Given the description of an element on the screen output the (x, y) to click on. 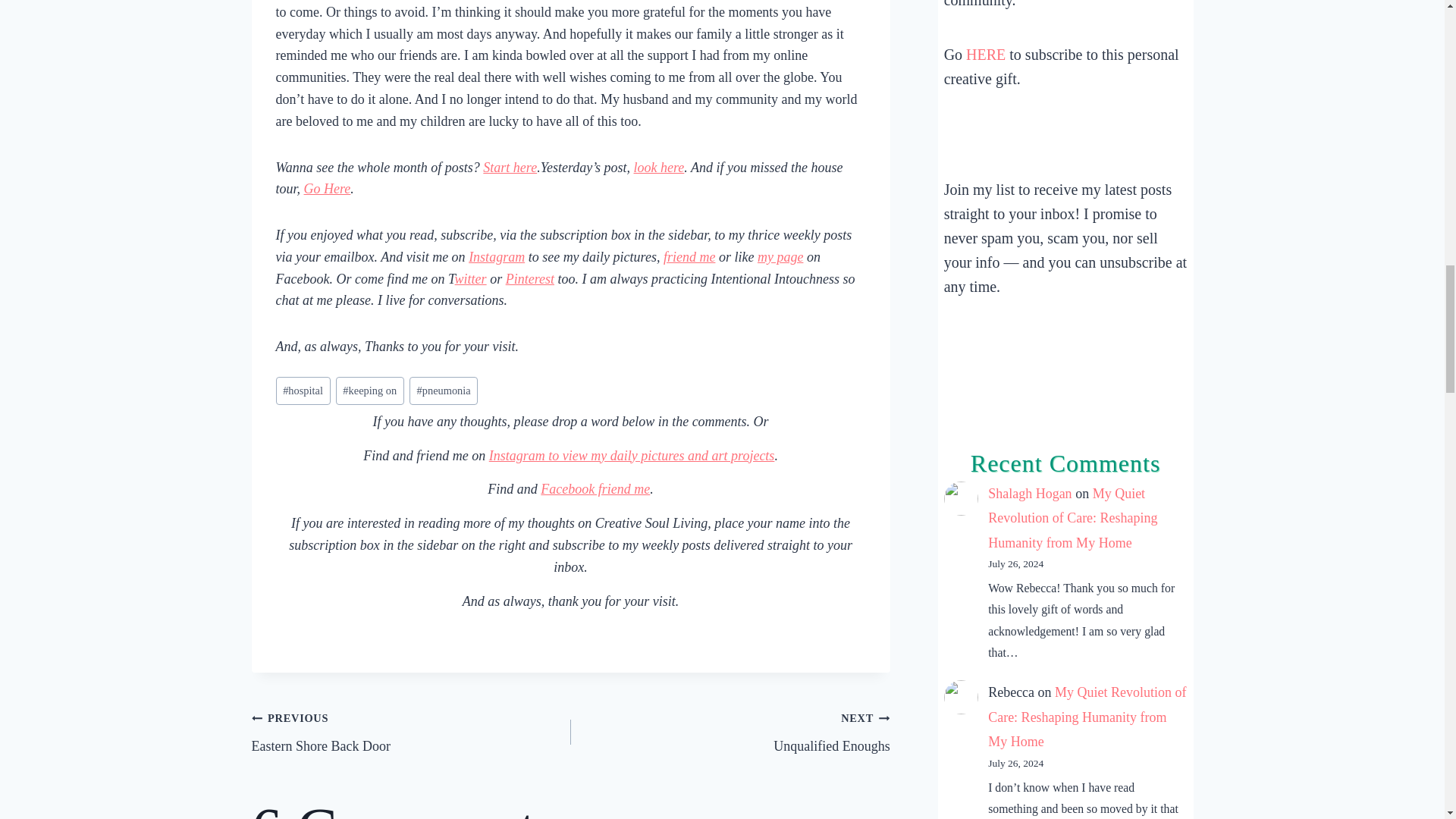
keeping on (370, 390)
Instagram (496, 256)
hospital (303, 390)
Go Here (327, 188)
friend me (688, 256)
my page (780, 256)
Pinterest (529, 278)
look here (658, 166)
Start here (510, 166)
witter (470, 278)
